Given the description of an element on the screen output the (x, y) to click on. 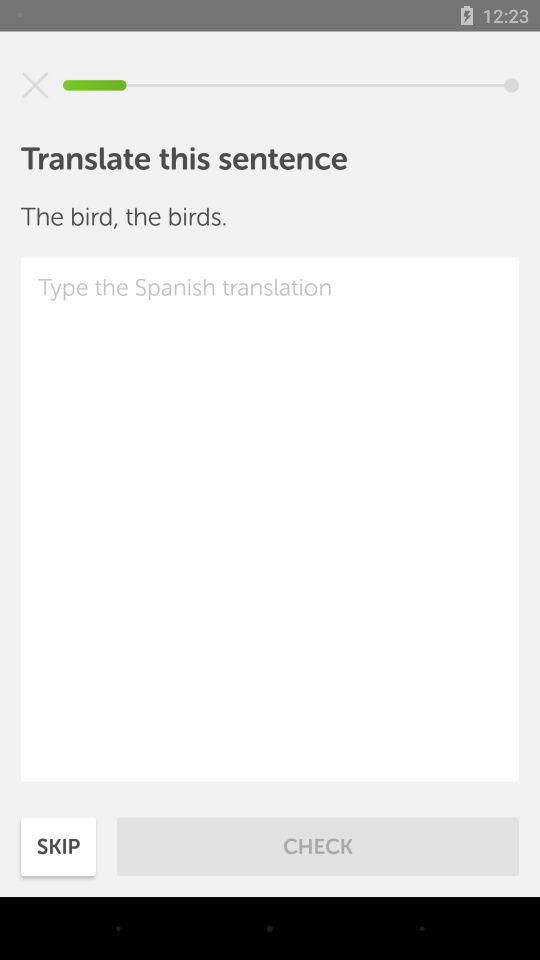
jump until check icon (318, 846)
